Given the description of an element on the screen output the (x, y) to click on. 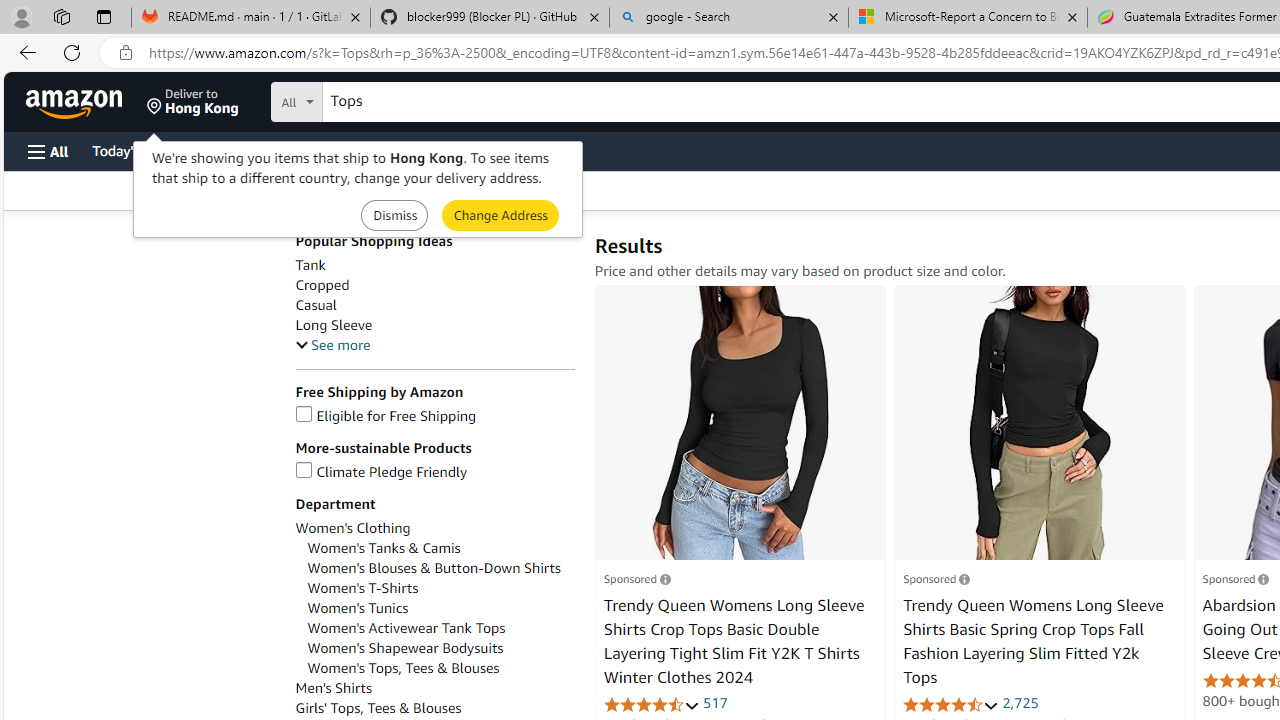
Submit (499, 214)
Open Menu (48, 151)
Women's Shapewear Bodysuits (440, 648)
Casual (315, 305)
4.3 out of 5 stars (651, 704)
Gift Cards (442, 150)
Women's Clothing (352, 528)
Women's Shapewear Bodysuits (405, 648)
Women's Tops, Tees & Blouses (440, 668)
Deliver to Hong Kong (193, 101)
Women's Tunics (358, 608)
